Given the description of an element on the screen output the (x, y) to click on. 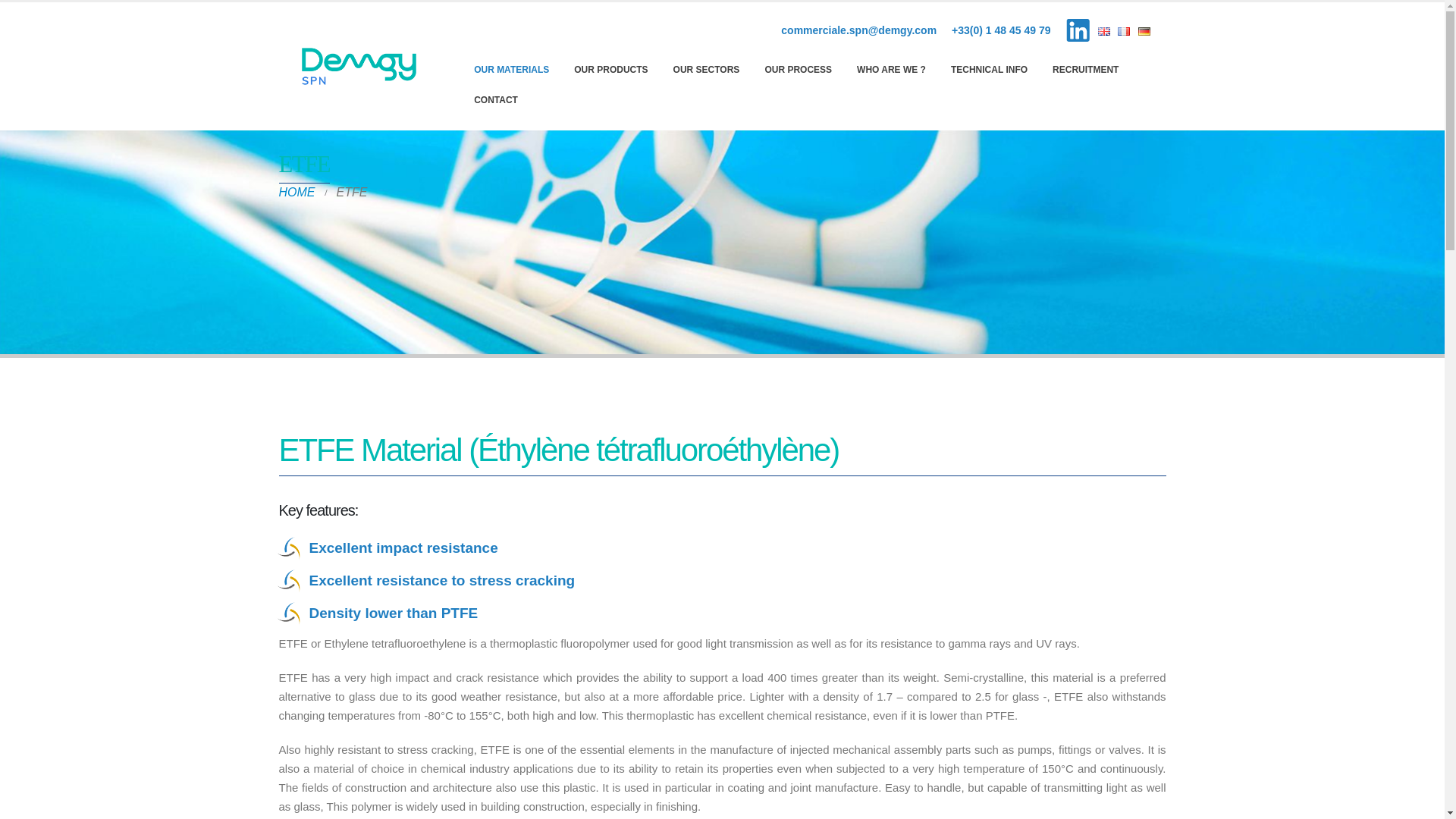
OUR PRODUCTS (610, 69)
OUR MATERIALS (510, 69)
Go to Home Page (297, 192)
OUR SECTORS (706, 69)
